Given the description of an element on the screen output the (x, y) to click on. 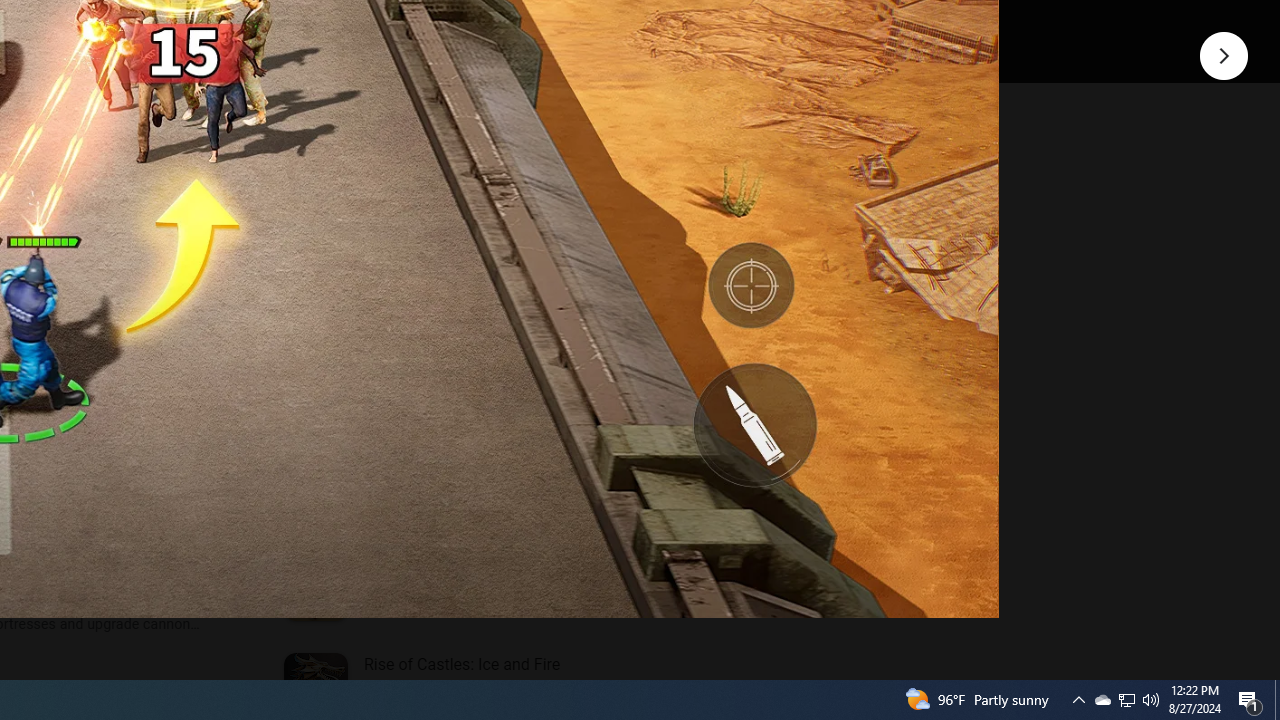
See more information on Similar games (455, 229)
Play trailer (587, 24)
Scroll Next (212, 272)
Expand (441, 155)
